Given the description of an element on the screen output the (x, y) to click on. 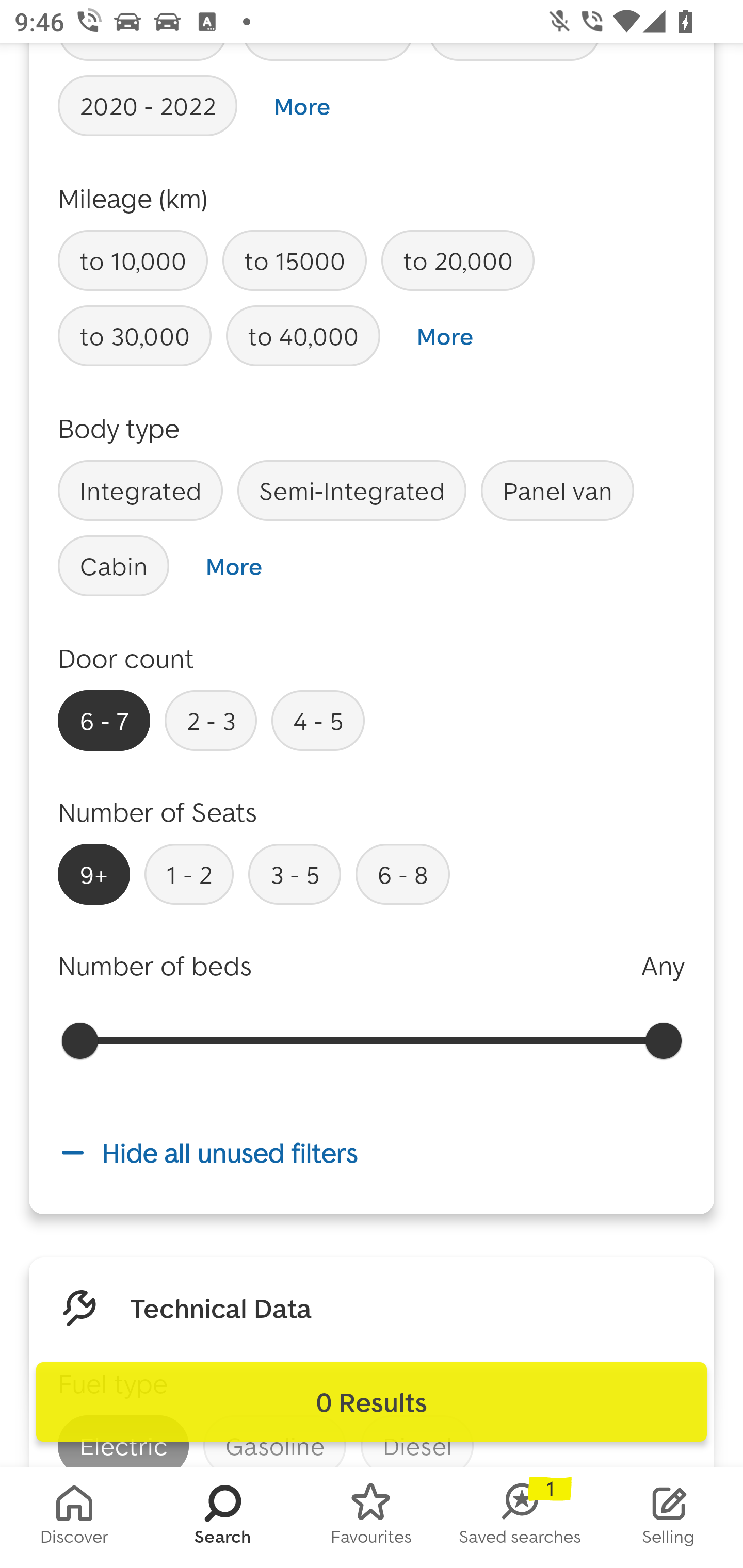
2020 - 2022 (147, 105)
More (301, 106)
Mileage (km) (132, 198)
to 10,000 (132, 260)
to 15000 (294, 260)
to 20,000 (457, 260)
to 30,000 (134, 335)
to 40,000 (302, 335)
More (444, 335)
Body type (118, 427)
Integrated (139, 489)
Semi-Integrated (351, 489)
Panel van (556, 489)
Cabin (113, 564)
More (233, 565)
Door count (125, 658)
6 - 7 (103, 720)
2 - 3 (210, 720)
4 - 5 (317, 720)
Number of Seats (157, 811)
9+ (93, 873)
1 - 2 (189, 873)
3 - 5 (294, 873)
6 - 8 (402, 873)
Number of beds (154, 965)
Any (663, 965)
0.0 Range start, 0 8000.0 Range end, 8000 (371, 1040)
Hide all unused filters (371, 1153)
Technical Data (221, 1307)
0 Results (371, 1401)
HOMESCREEN Discover (74, 1517)
SEARCH Search (222, 1517)
FAVORITES Favourites (371, 1517)
SAVED_SEARCHES Saved searches 1 (519, 1517)
STOCK_LIST Selling (668, 1517)
